Given the description of an element on the screen output the (x, y) to click on. 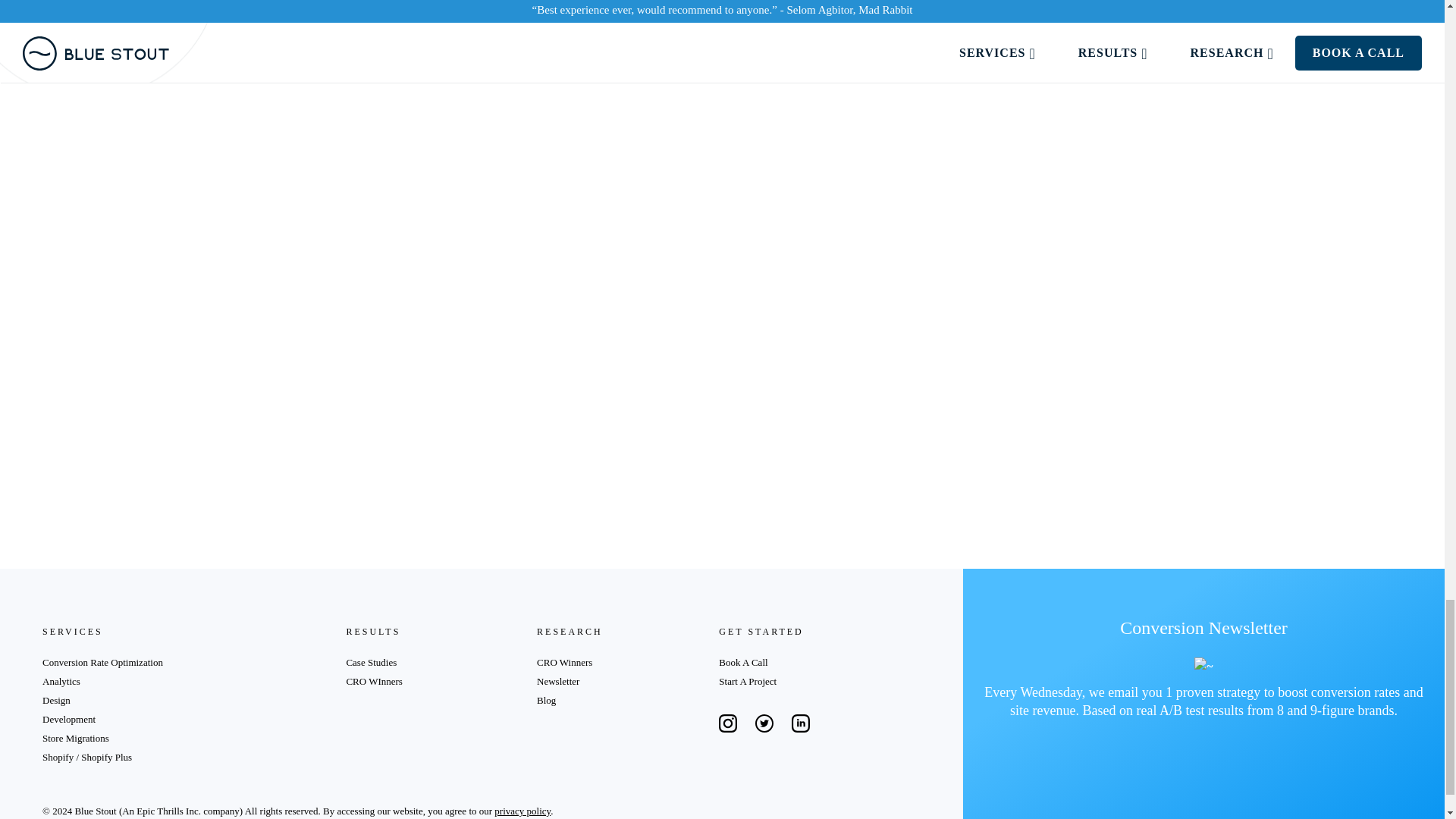
Design (55, 699)
Analytics (61, 681)
Conversion Rate Optimization (102, 662)
